Given the description of an element on the screen output the (x, y) to click on. 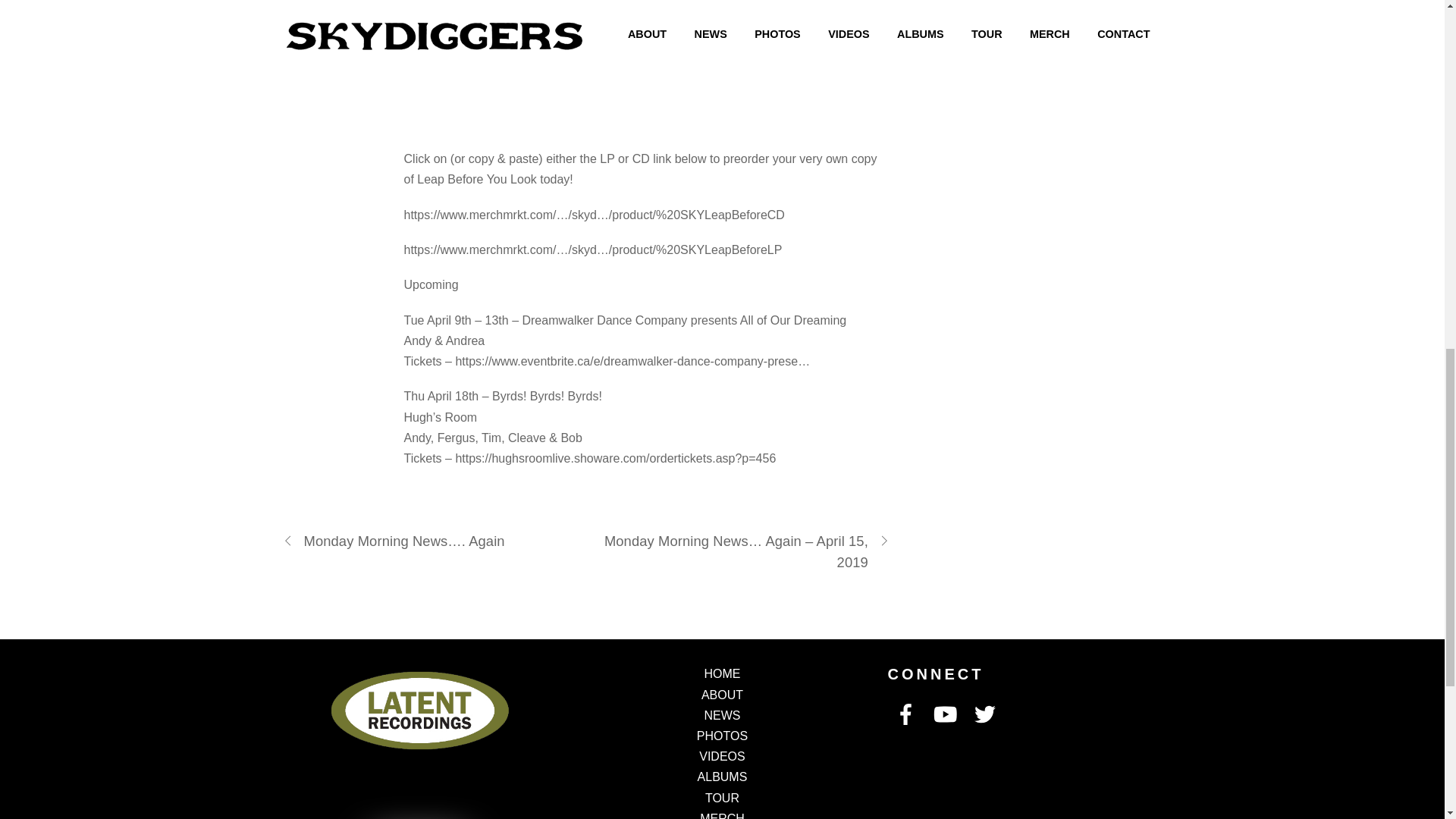
Dreamwalker Dance Company (604, 319)
All of Our Dreaming (793, 319)
